Given the description of an element on the screen output the (x, y) to click on. 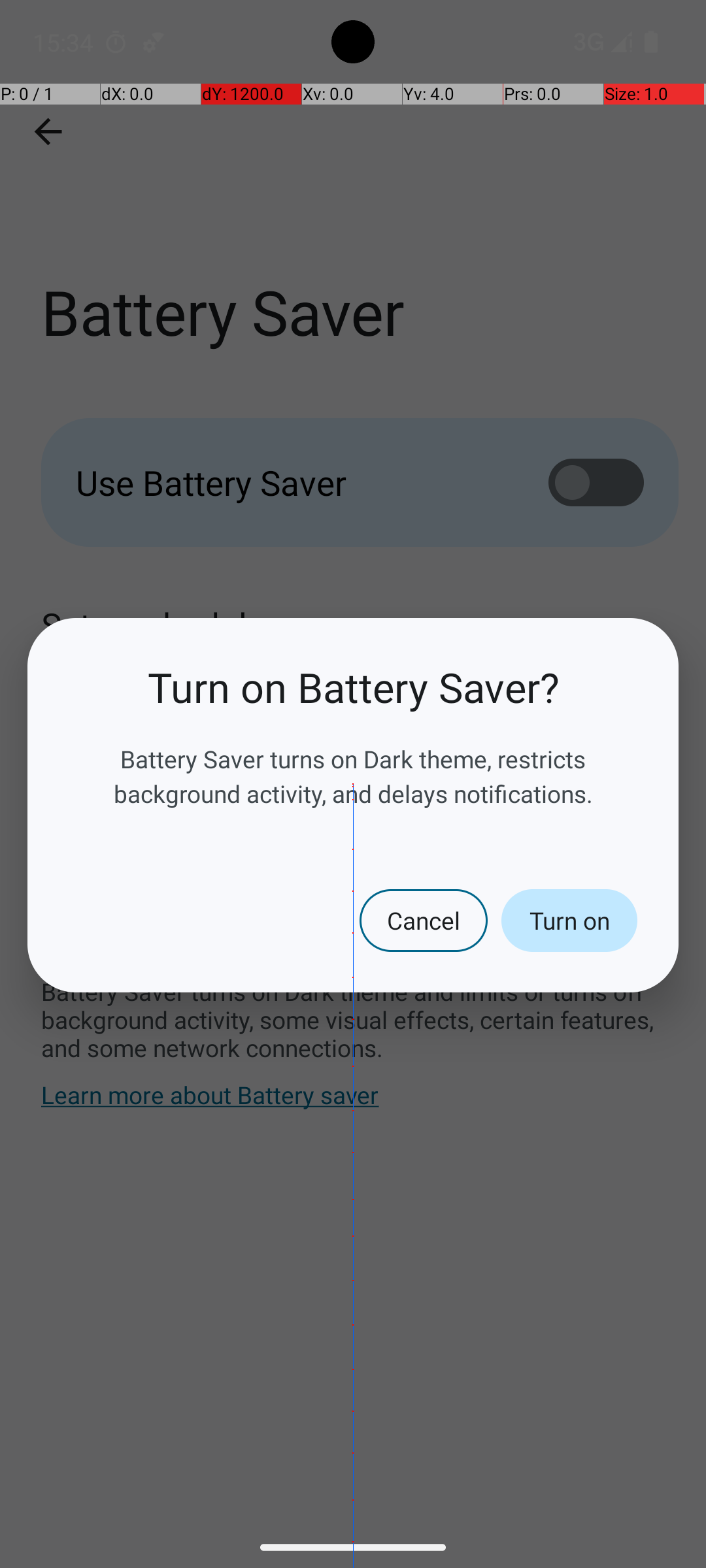
Turn on Battery Saver? Element type: android.widget.TextView (352, 686)
Battery Saver turns on Dark theme, restricts background activity, and delays notifications. Element type: android.widget.TextView (352, 776)
